Given the description of an element on the screen output the (x, y) to click on. 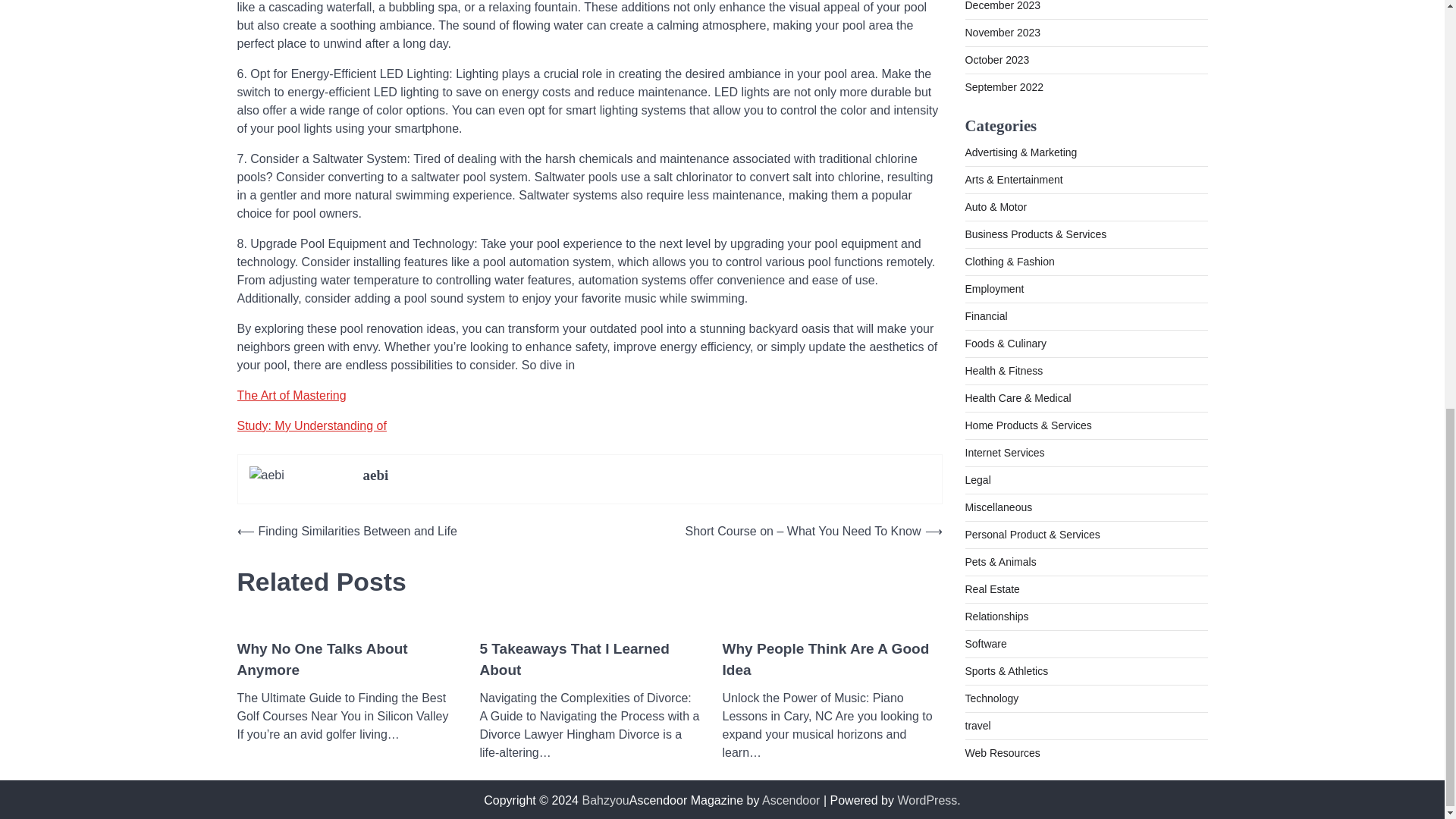
Study: My Understanding of (310, 425)
Employment (993, 183)
5 Takeaways That I Learned About (588, 659)
Why People Think Are A Good Idea (832, 659)
Financial (985, 210)
Why No One Talks About Anymore (346, 659)
The Art of Mastering (290, 395)
